Given the description of an element on the screen output the (x, y) to click on. 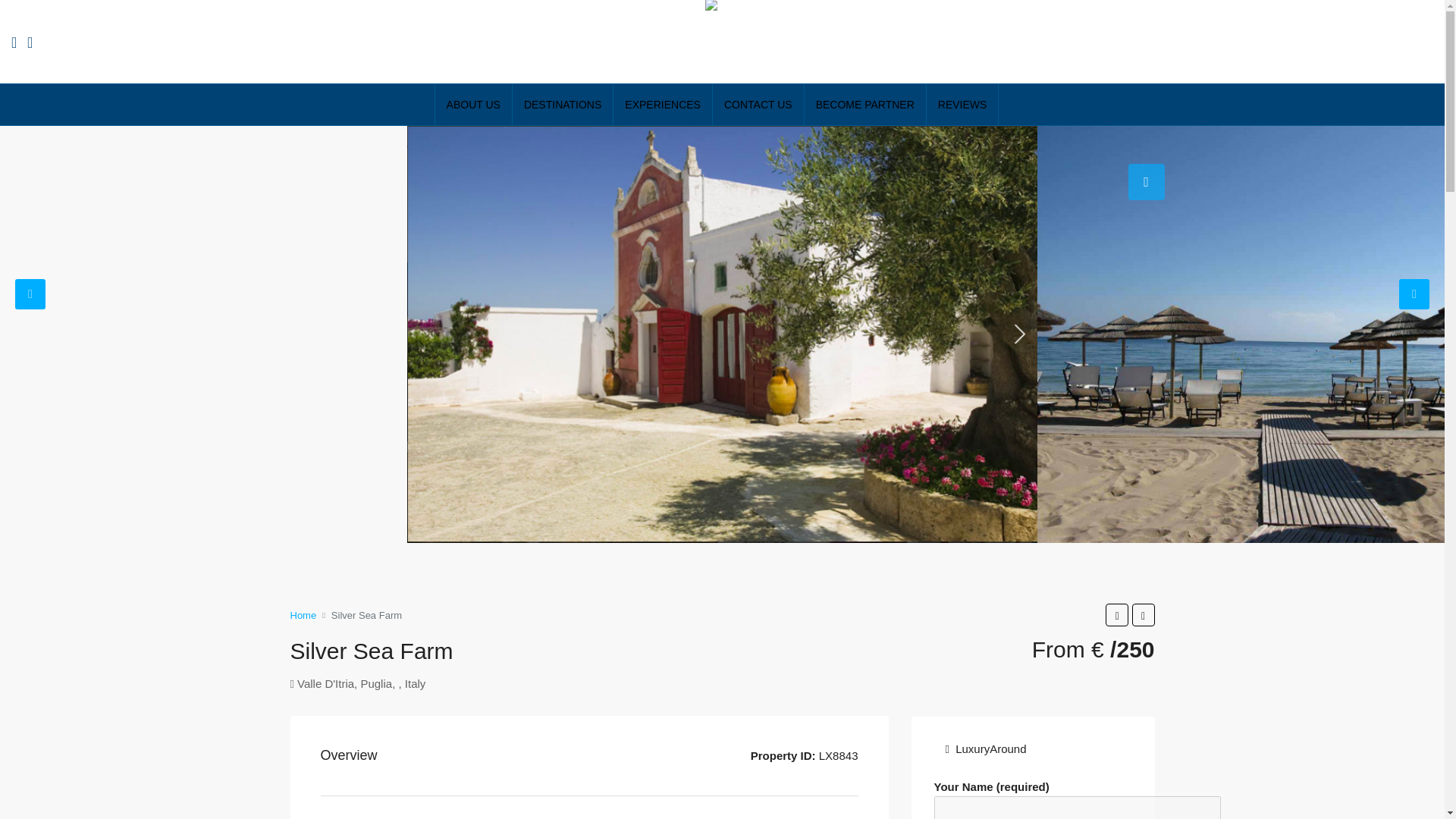
REVIEWS (962, 104)
ABOUT US (473, 104)
BECOME PARTNER (865, 104)
DESTINATIONS (562, 104)
CONTACT US (758, 104)
Previous (29, 294)
EXPERIENCES (661, 104)
